Given the description of an element on the screen output the (x, y) to click on. 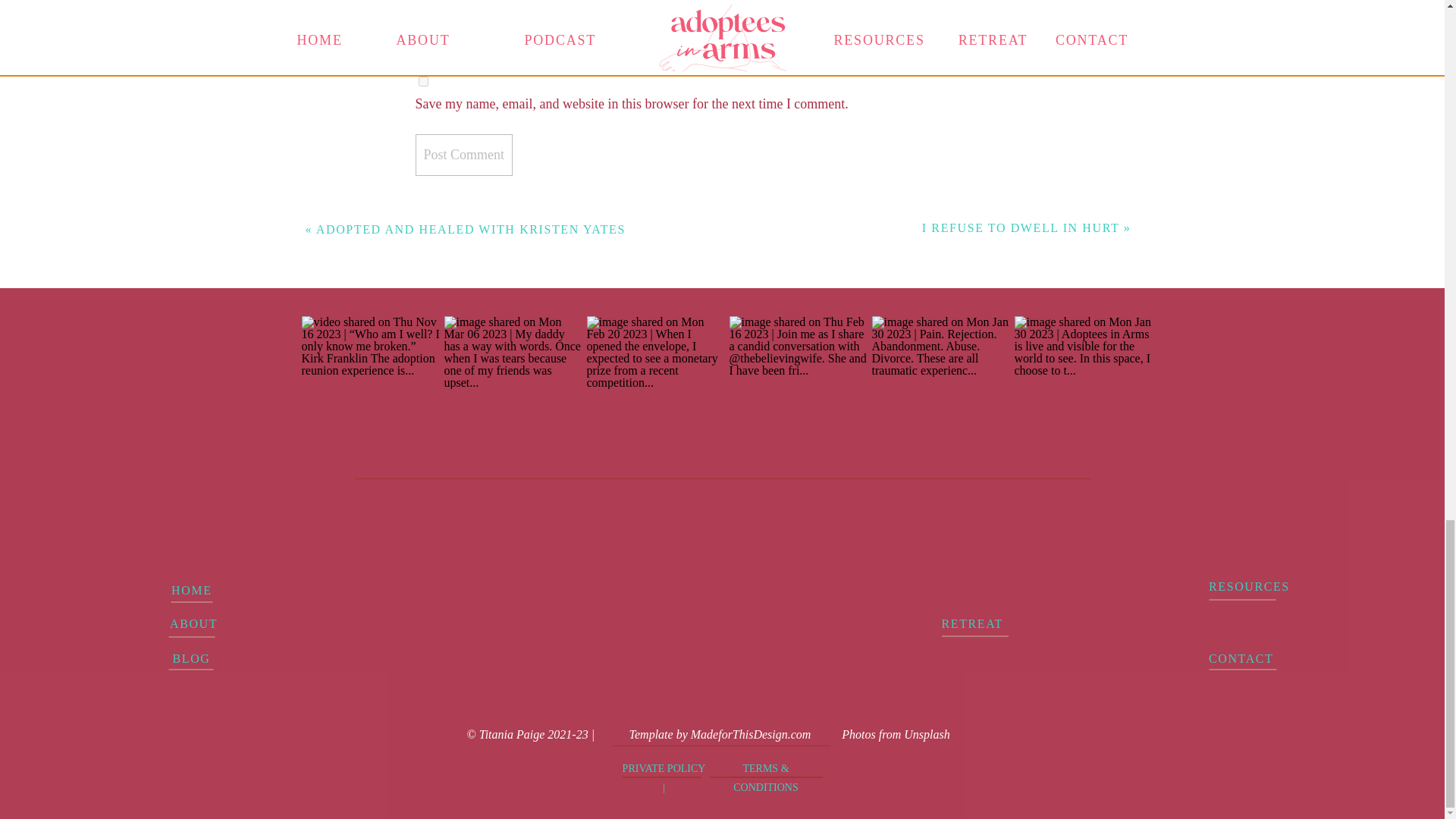
Post Comment (463, 154)
Template by MadeforThisDesign.com (720, 732)
yes (423, 81)
RETREAT (989, 623)
CONTACT (1247, 658)
Photos from Unsplash (895, 732)
ADOPTED AND HEALED WITH KRISTEN YATES (470, 228)
BLOG (191, 658)
I REFUSE TO DWELL IN HURT (1020, 227)
ABOUT (191, 623)
